Given the description of an element on the screen output the (x, y) to click on. 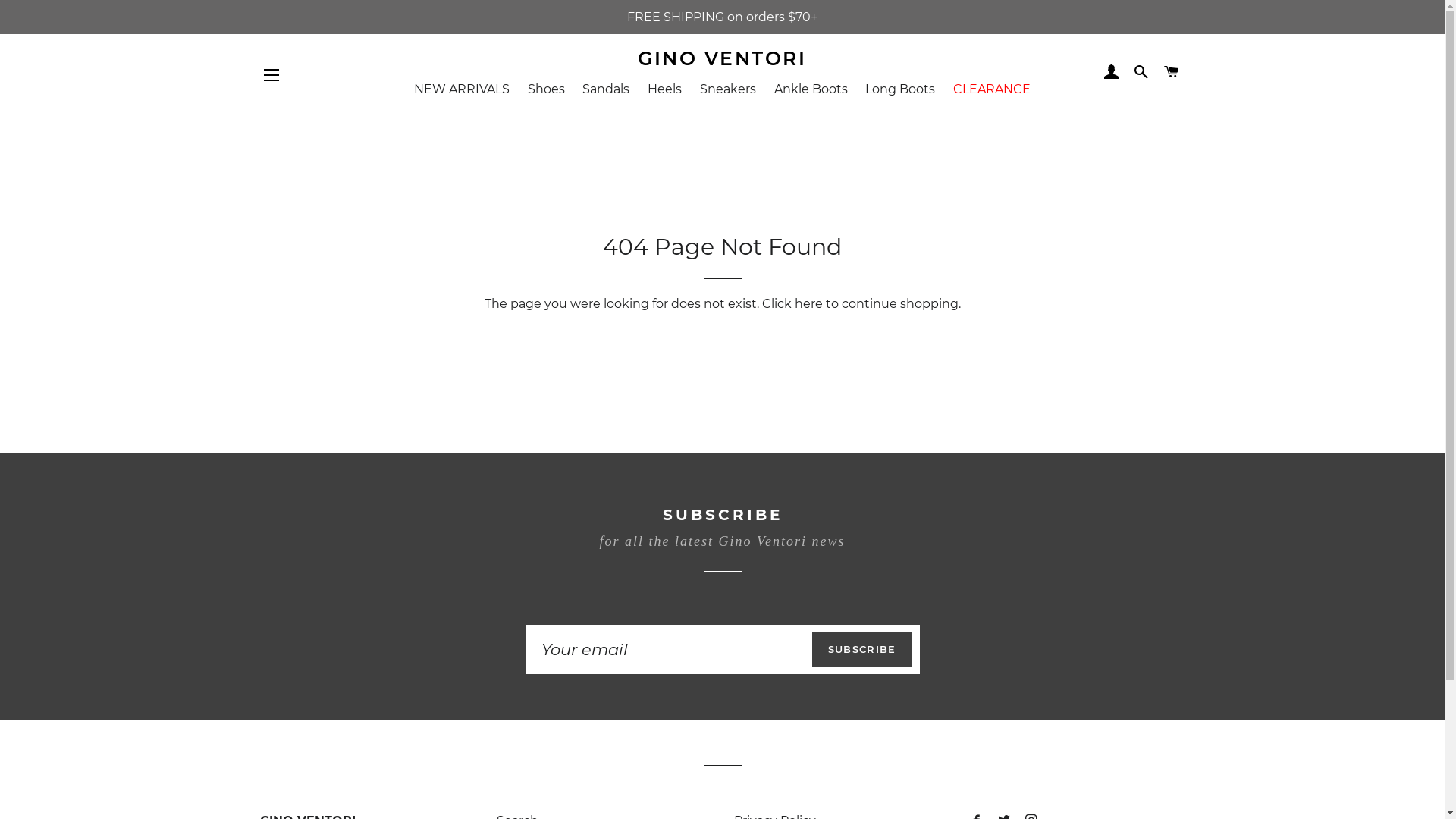
CLEARANCE Element type: text (991, 88)
Click here Element type: text (791, 303)
SITE NAVIGATION Element type: text (270, 75)
LOG IN Element type: text (1111, 71)
Sandals Element type: text (605, 88)
NEW ARRIVALS Element type: text (461, 88)
Ankle Boots Element type: text (810, 88)
Heels Element type: text (664, 88)
Shoes Element type: text (545, 88)
Long Boots Element type: text (900, 88)
Sneakers Element type: text (727, 88)
SUBSCRIBE Element type: text (862, 649)
CART Element type: text (1170, 71)
FREE SHIPPING on orders $70+ Element type: text (722, 17)
GINO VENTORI Element type: text (722, 58)
SEARCH Element type: text (1141, 71)
